Given the description of an element on the screen output the (x, y) to click on. 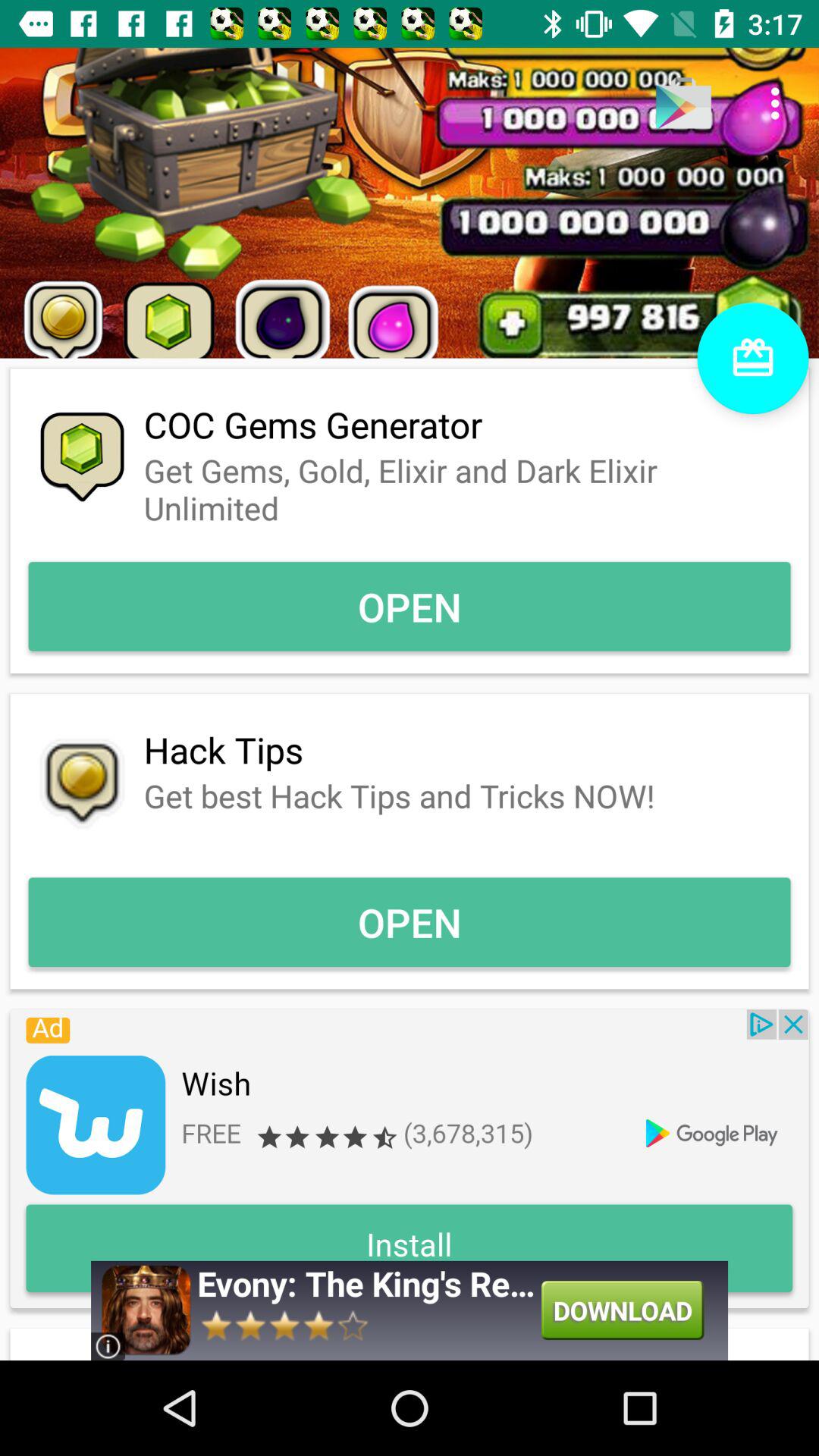
open perks menu (752, 358)
